Given the description of an element on the screen output the (x, y) to click on. 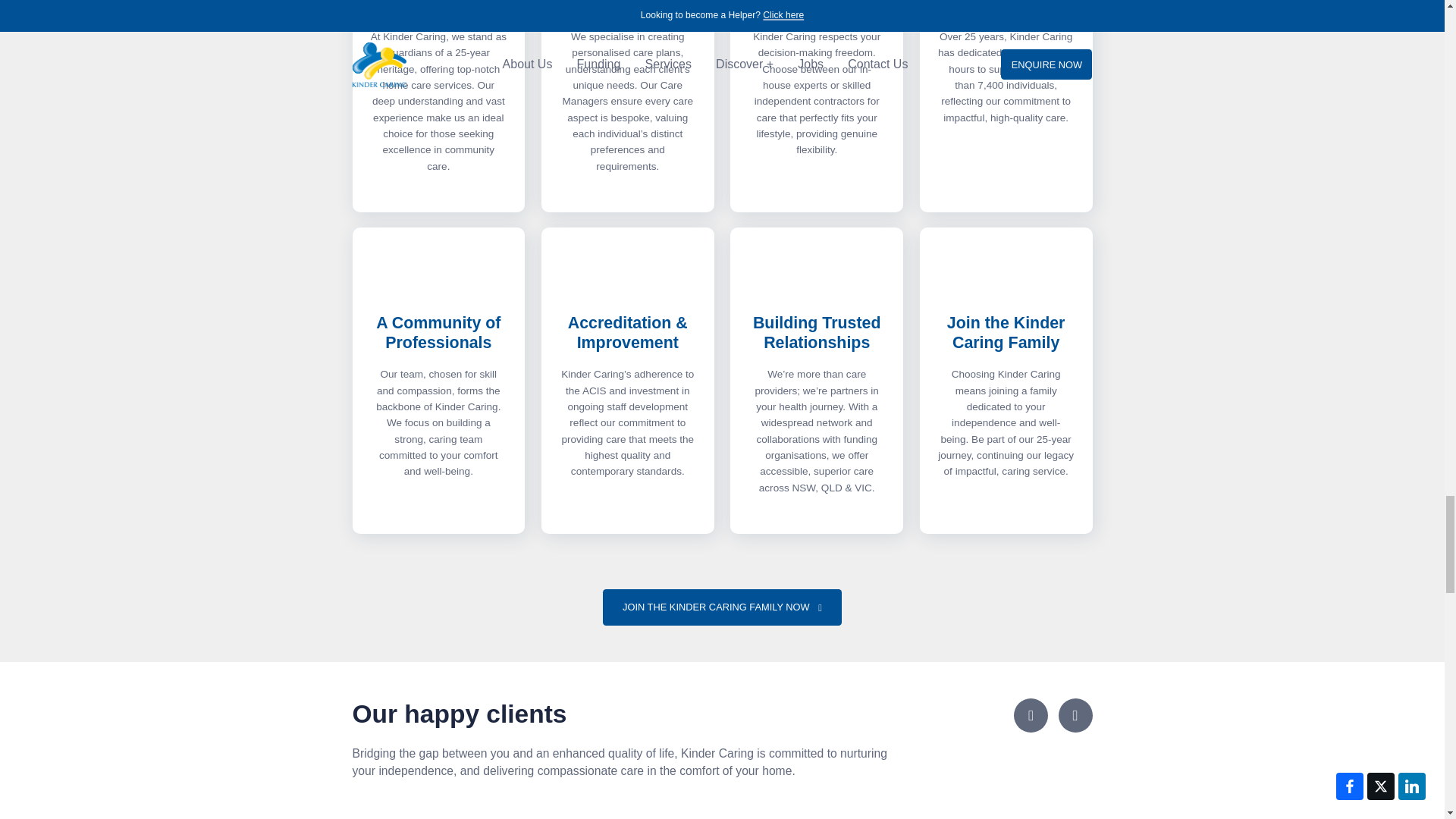
JOIN THE KINDER CARING FAMILY NOW (721, 606)
